Given the description of an element on the screen output the (x, y) to click on. 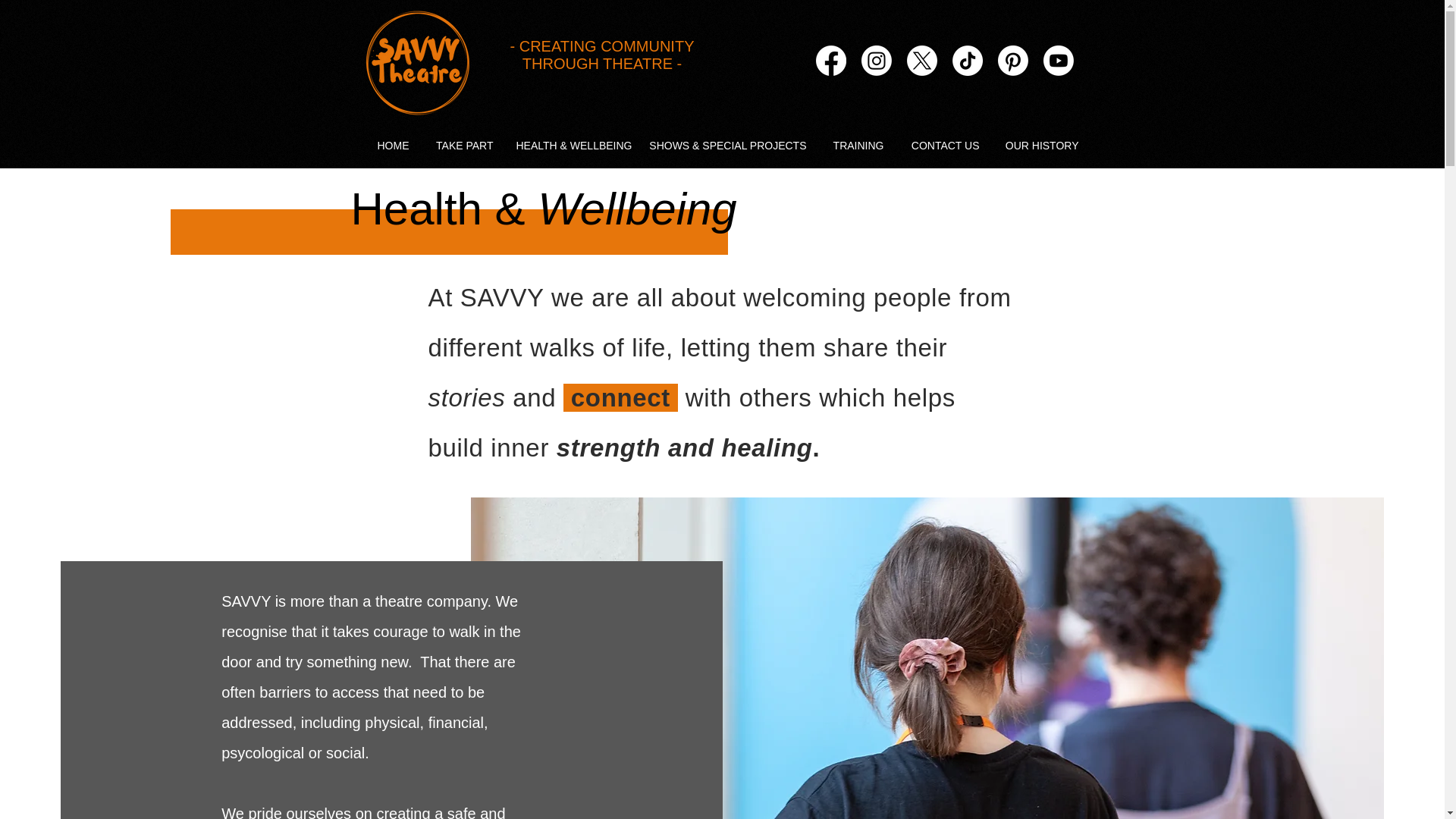
CONTACT US (939, 145)
OUR HISTORY (1036, 145)
TRAINING (852, 145)
TAKE PART (458, 145)
HOME (386, 145)
